Given the description of an element on the screen output the (x, y) to click on. 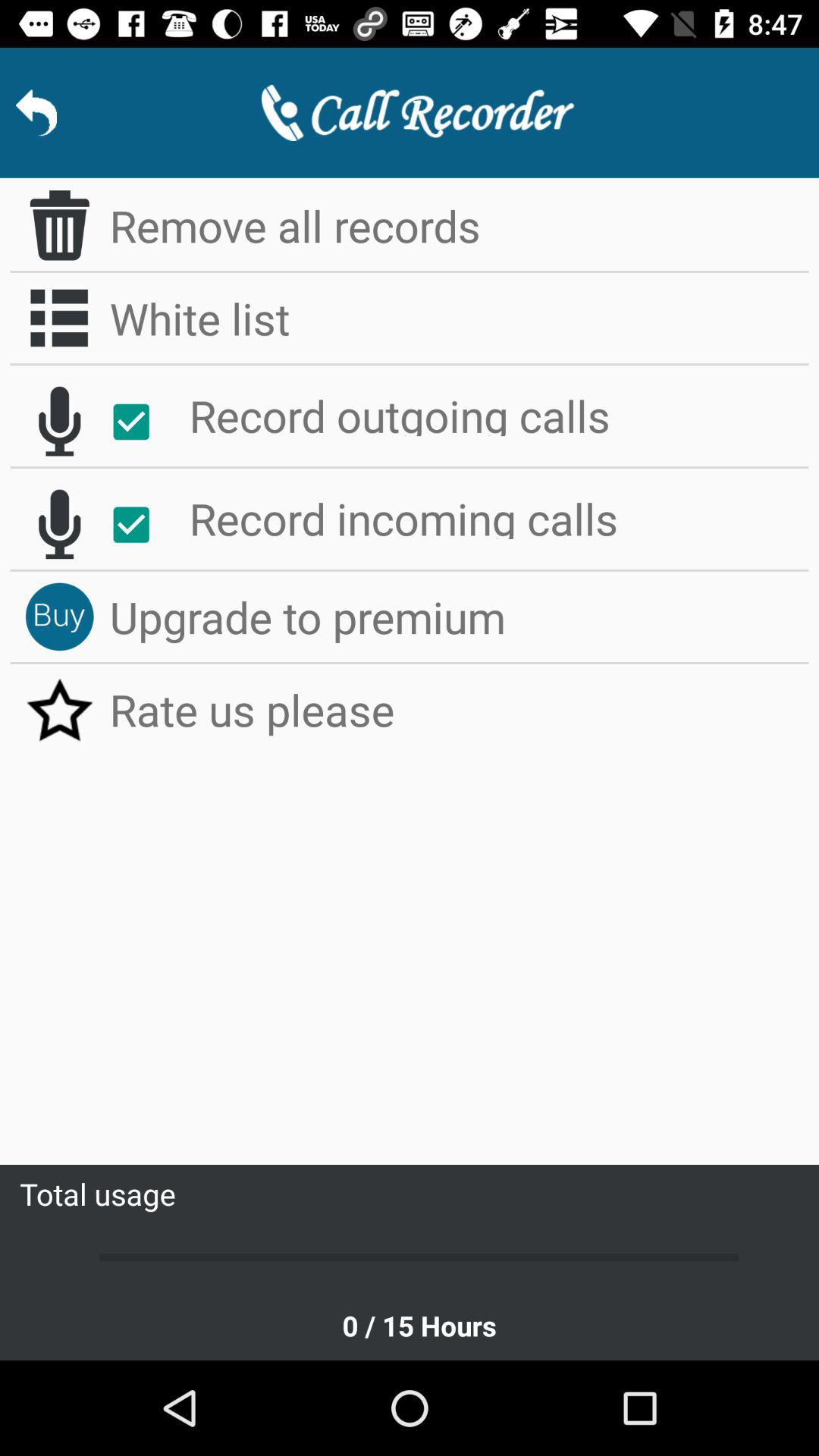
delete records (59, 225)
